Given the description of an element on the screen output the (x, y) to click on. 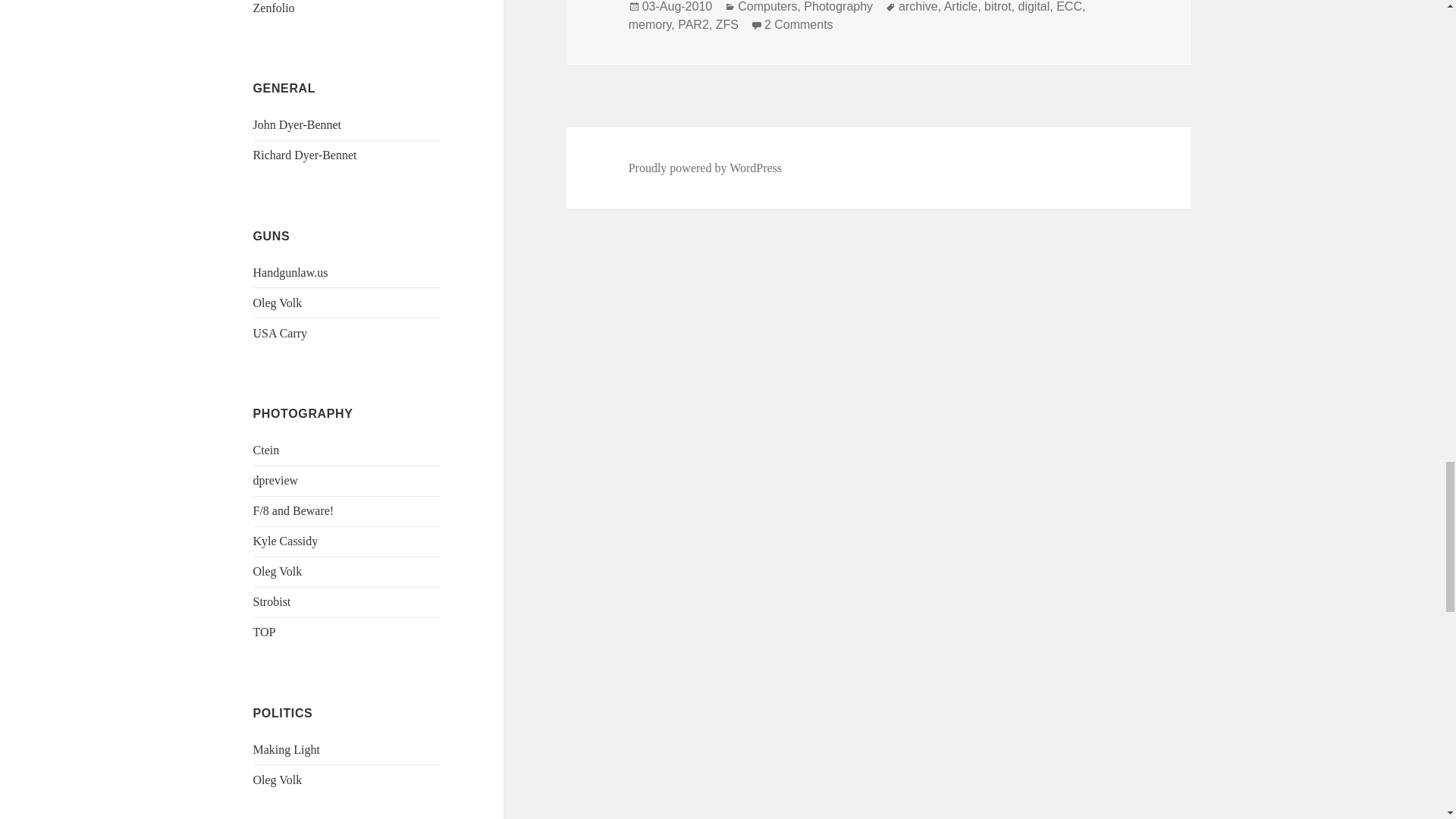
Self-defense, photos (277, 571)
State carry permit info (291, 272)
Photo hosting, excellent viewer experience (274, 7)
Digital Photography Review (275, 480)
Group blog on photography (264, 631)
The power of portable strobes (272, 601)
Self-defense, photos (277, 302)
John Dyer-Bennet memorial (297, 124)
Self-defense, photos (277, 779)
photo lawyer (293, 510)
